Given the description of an element on the screen output the (x, y) to click on. 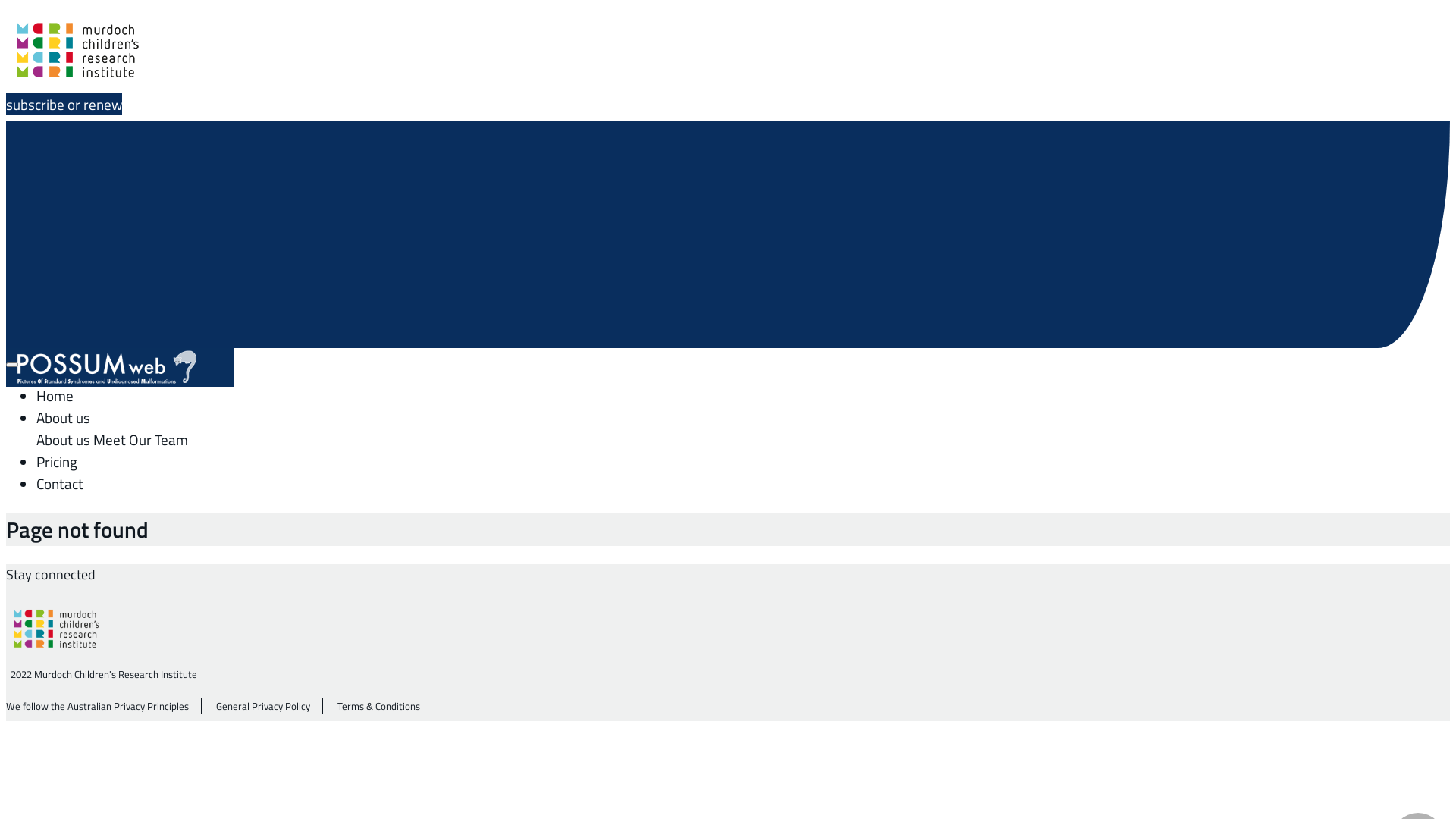
General Privacy Policy Element type: text (263, 705)
Terms & Conditions Element type: text (378, 705)
Meet Our Team Element type: text (140, 439)
About us Element type: text (63, 417)
About us Element type: text (63, 439)
subscribe or renew Element type: text (64, 104)
Pricing Element type: text (56, 461)
Contact Element type: text (59, 483)
We follow the Australian Privacy Principles Element type: text (97, 705)
Home Element type: text (54, 395)
